Given the description of an element on the screen output the (x, y) to click on. 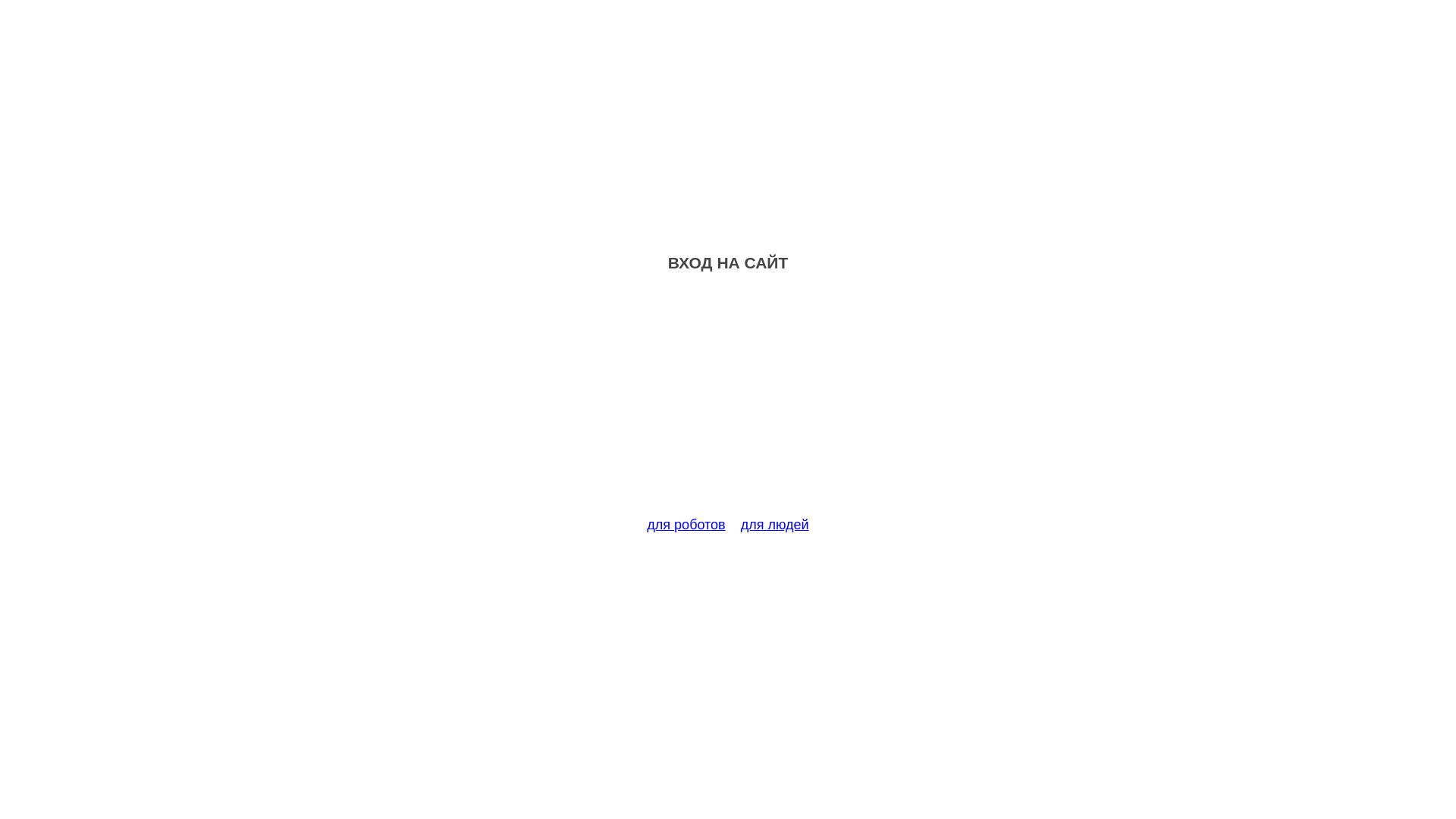
Advertisement Element type: hover (727, 403)
